Given the description of an element on the screen output the (x, y) to click on. 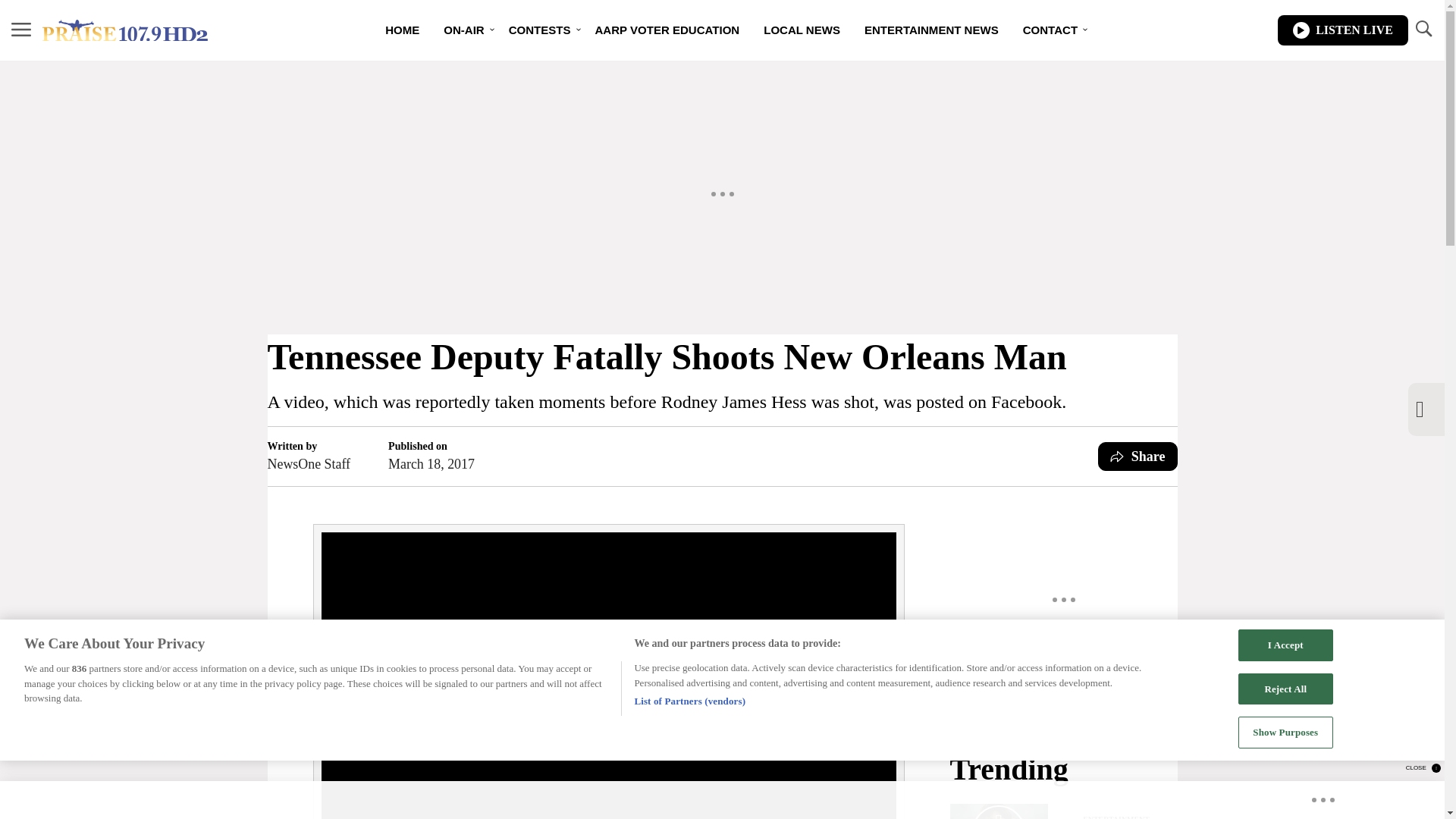
CONTACT (1049, 30)
HOME (401, 30)
LOCAL NEWS (801, 30)
TOGGLE SEARCH (1422, 28)
NewsOne Staff (308, 464)
MENU (20, 30)
TOGGLE SEARCH (1422, 30)
Media Playlist (998, 812)
CONTESTS (539, 30)
ON-AIR (463, 30)
AARP VOTER EDUCATION (667, 30)
Share (1137, 456)
ENTERTAINMENT NEWS (930, 30)
MENU (20, 29)
LISTEN LIVE (1342, 30)
